Given the description of an element on the screen output the (x, y) to click on. 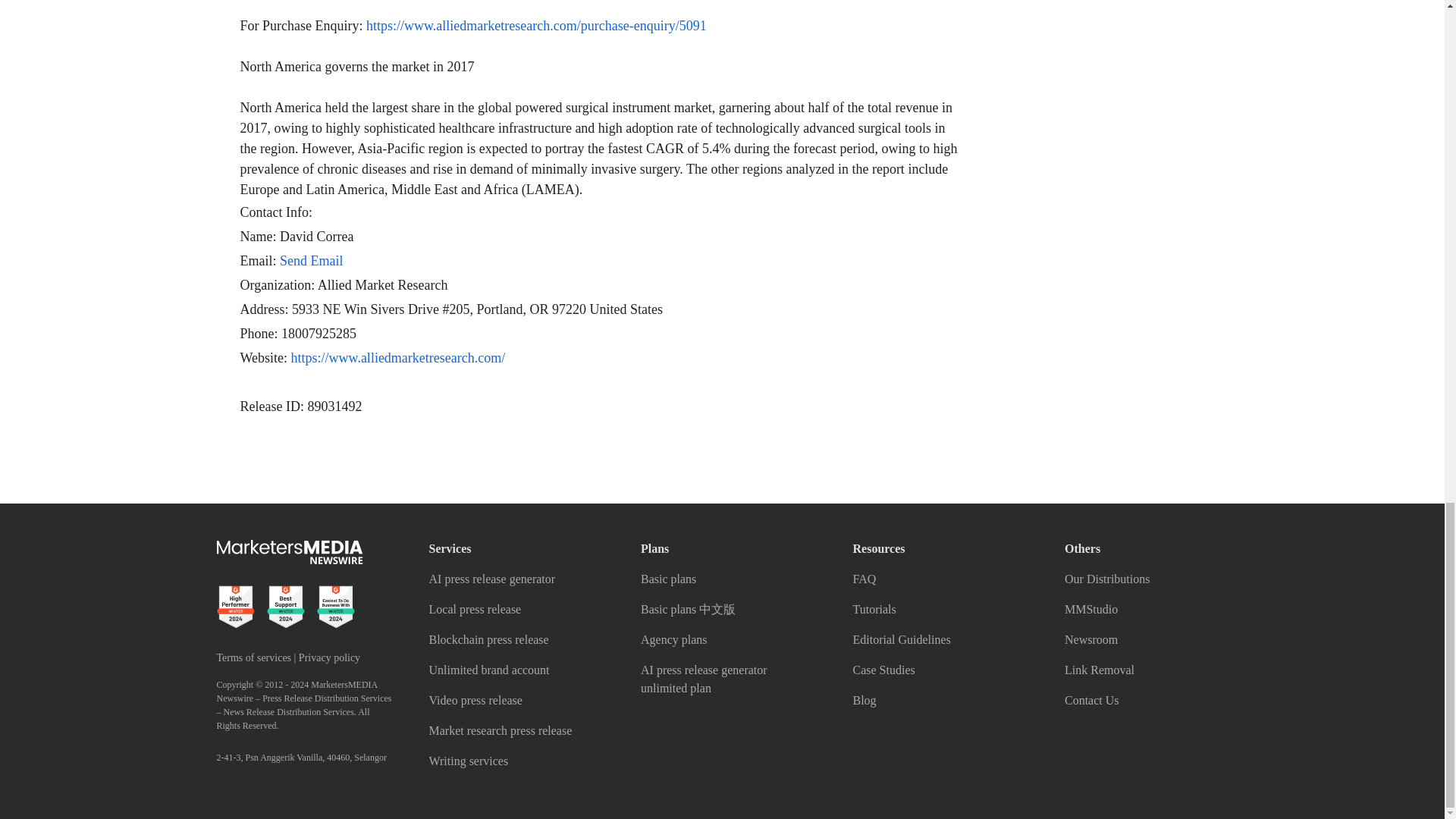
Local press release (475, 608)
AI press release generator (492, 578)
Blockchain press release (488, 639)
Privacy policy (328, 657)
Unlimited brand account (489, 669)
Send Email (311, 260)
Terms of services (254, 657)
